Given the description of an element on the screen output the (x, y) to click on. 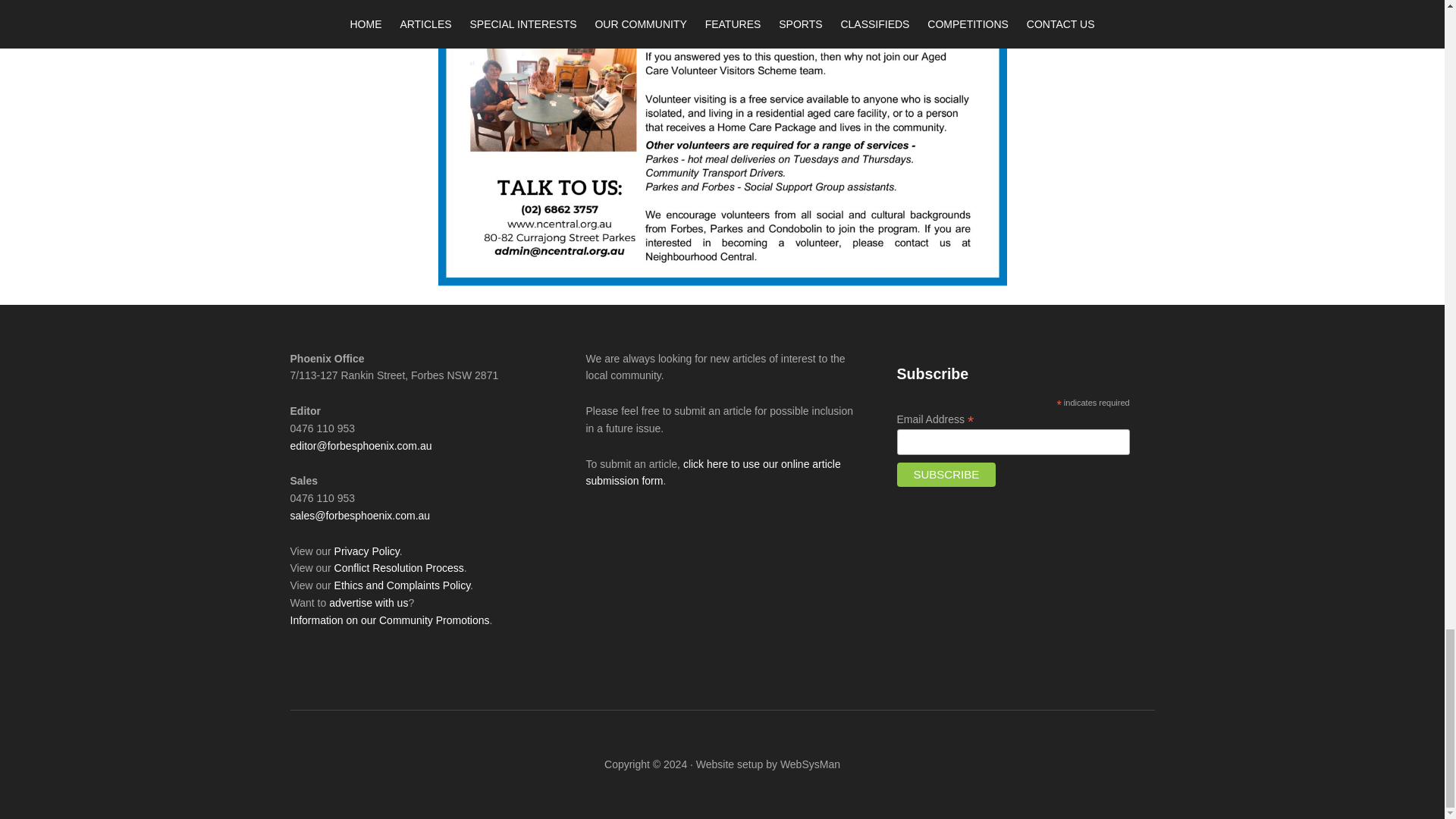
Ethics and Complaints Policy (402, 585)
Conflict Resolution Process (399, 567)
Advertise with Us (368, 603)
Subscribe (945, 474)
Submit an Article (712, 472)
Privacy Policy (366, 551)
